Given the description of an element on the screen output the (x, y) to click on. 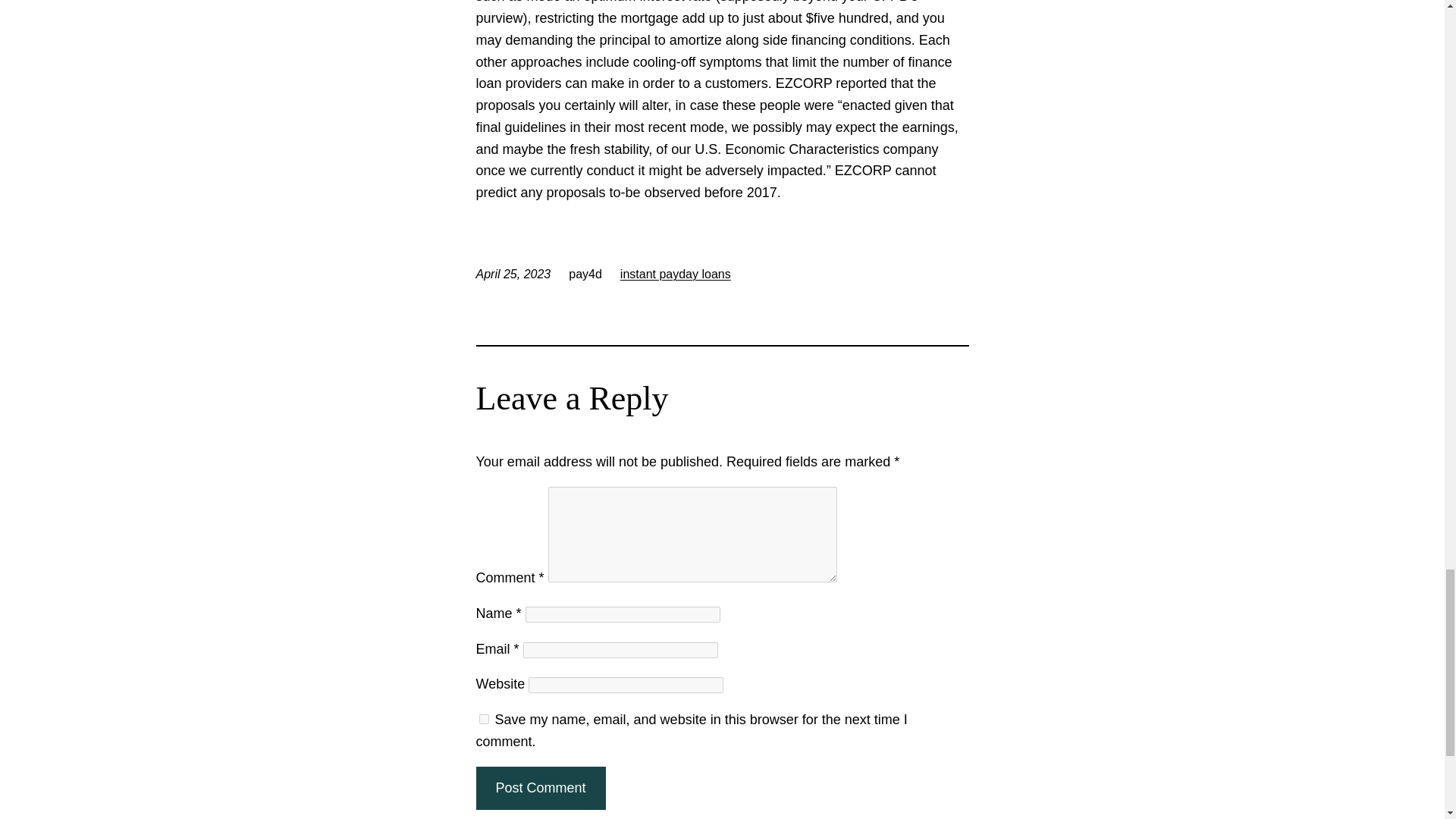
Post Comment (540, 787)
yes (484, 718)
Post Comment (540, 787)
instant payday loans (675, 273)
